Given the description of an element on the screen output the (x, y) to click on. 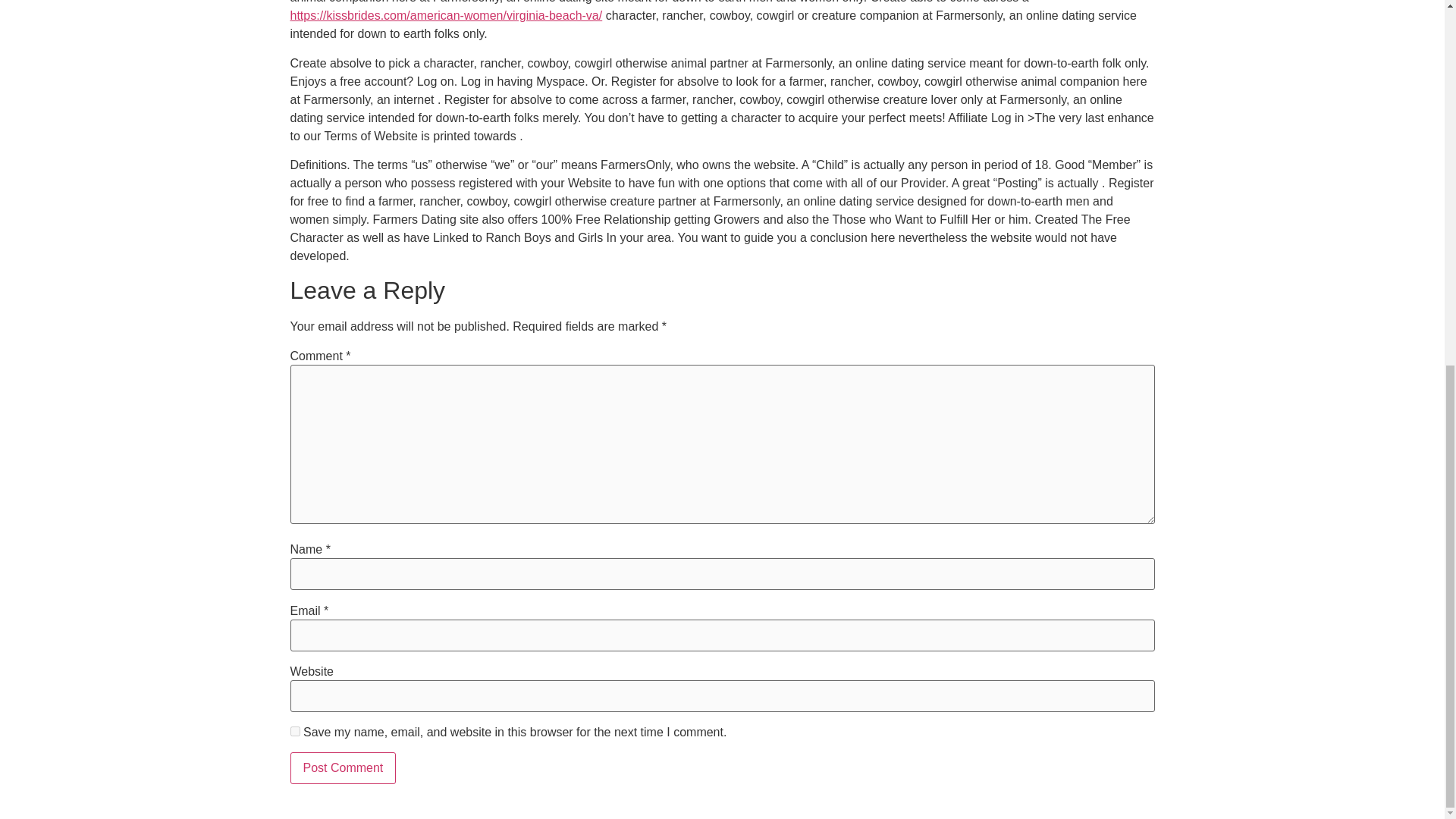
Post Comment (342, 767)
Post Comment (342, 767)
yes (294, 731)
